Given the description of an element on the screen output the (x, y) to click on. 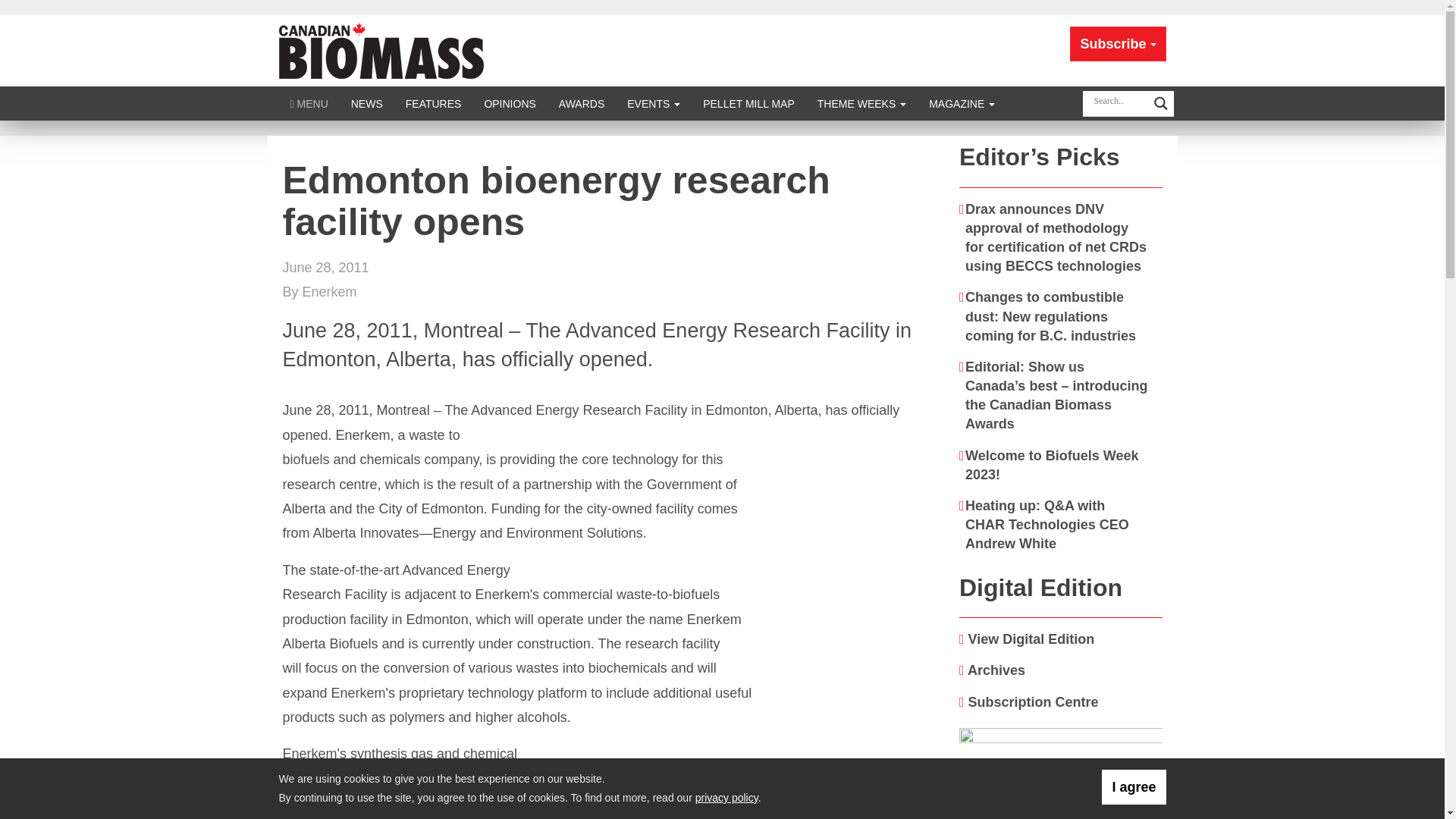
MAGAZINE (961, 103)
Canadian Biomass Magazine (381, 49)
PELLET MILL MAP (748, 103)
Subscribe (1118, 43)
FEATURES (433, 103)
Click to show site navigation (309, 103)
AWARDS (581, 103)
MENU (309, 103)
OPINIONS (509, 103)
THEME WEEKS (861, 103)
EVENTS (653, 103)
NEWS (366, 103)
